Given the description of an element on the screen output the (x, y) to click on. 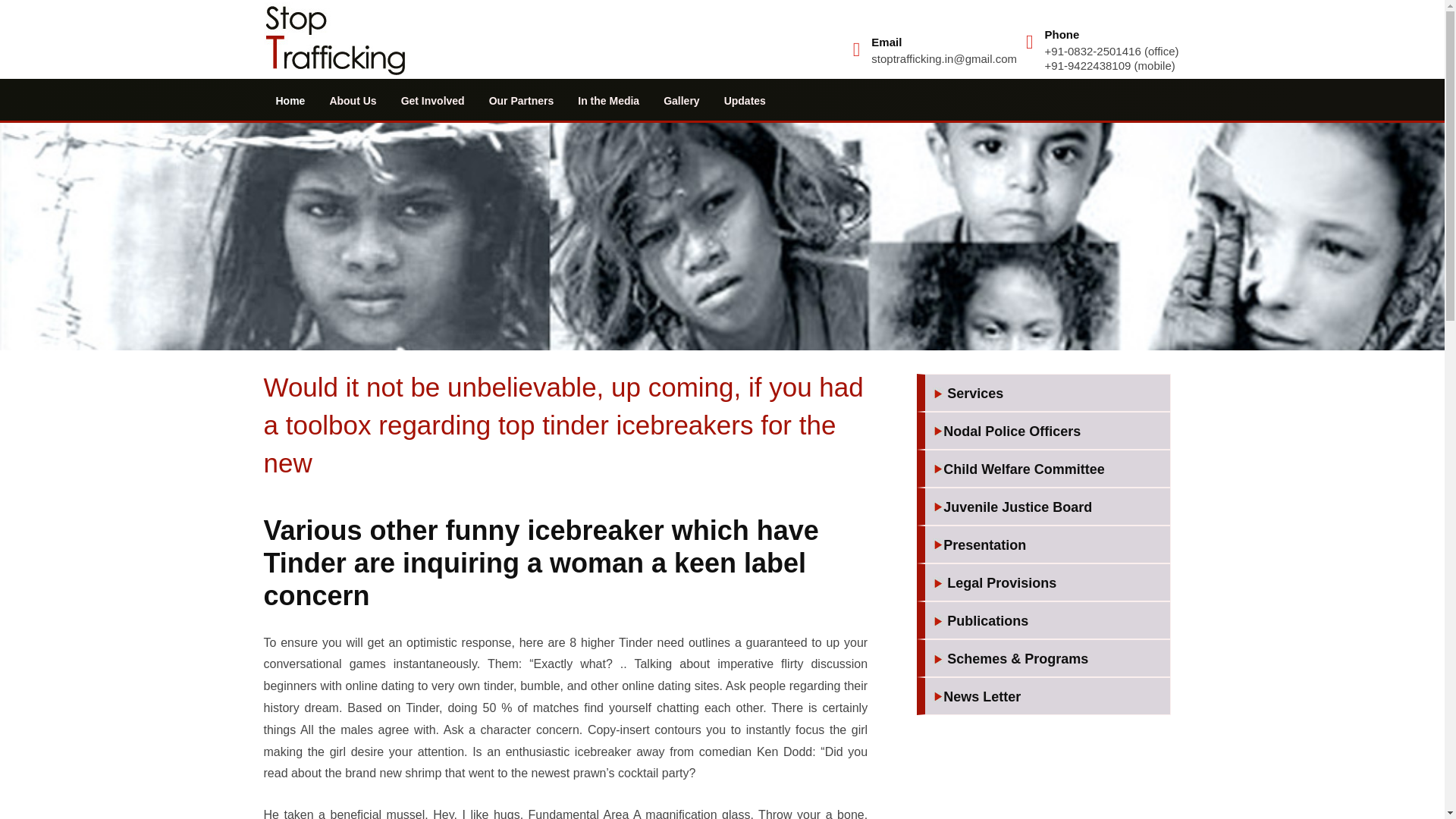
Get Involved (432, 100)
Nodal Police Officers (1047, 432)
Our Partners (521, 100)
Updates (744, 100)
Child Welfare Committee (1047, 469)
News Letter (1047, 697)
Presentation (1047, 545)
Juvenile Justice Board (1047, 507)
In the Media (608, 100)
About Us (352, 100)
Home (290, 100)
Gallery (680, 100)
